Given the description of an element on the screen output the (x, y) to click on. 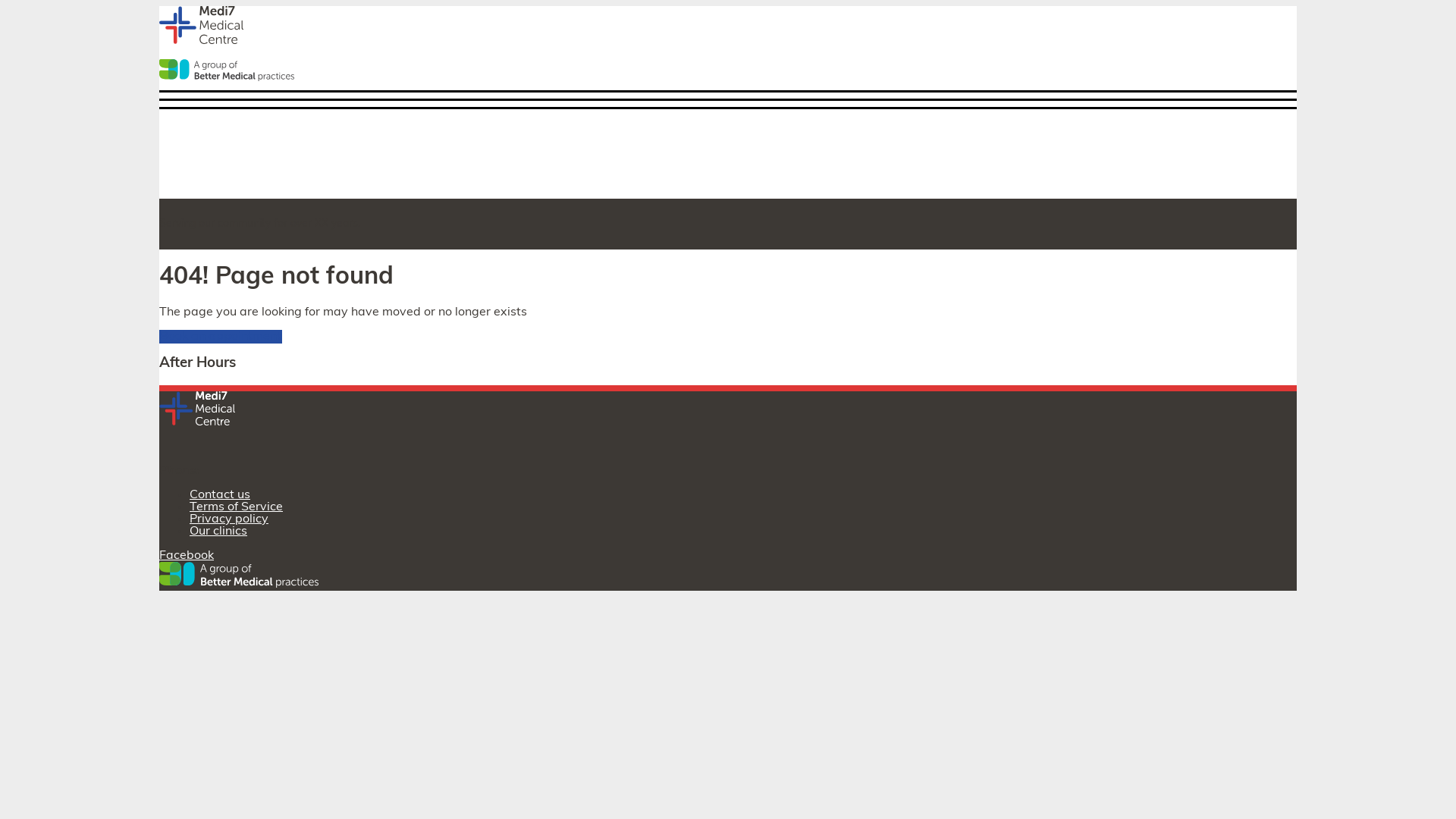
Privacy policy Element type: text (228, 519)
Our clinics Element type: text (218, 531)
Facebook Element type: text (186, 555)
Book an appointment Element type: text (220, 336)
Contact us Element type: text (219, 495)
Terms of Service Element type: text (235, 507)
